Given the description of an element on the screen output the (x, y) to click on. 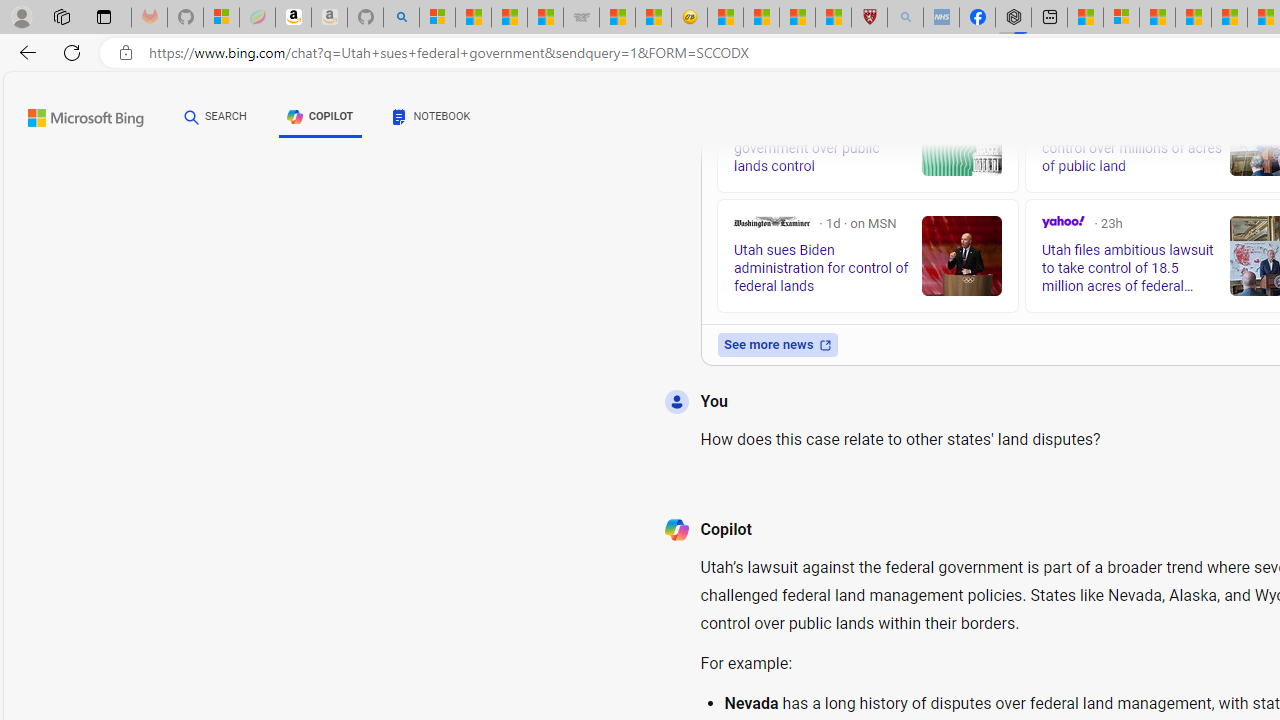
SEARCH (215, 117)
Yahoo (1062, 222)
Utah sues federal government over public lands control (961, 135)
SEARCH (215, 116)
